Given the description of an element on the screen output the (x, y) to click on. 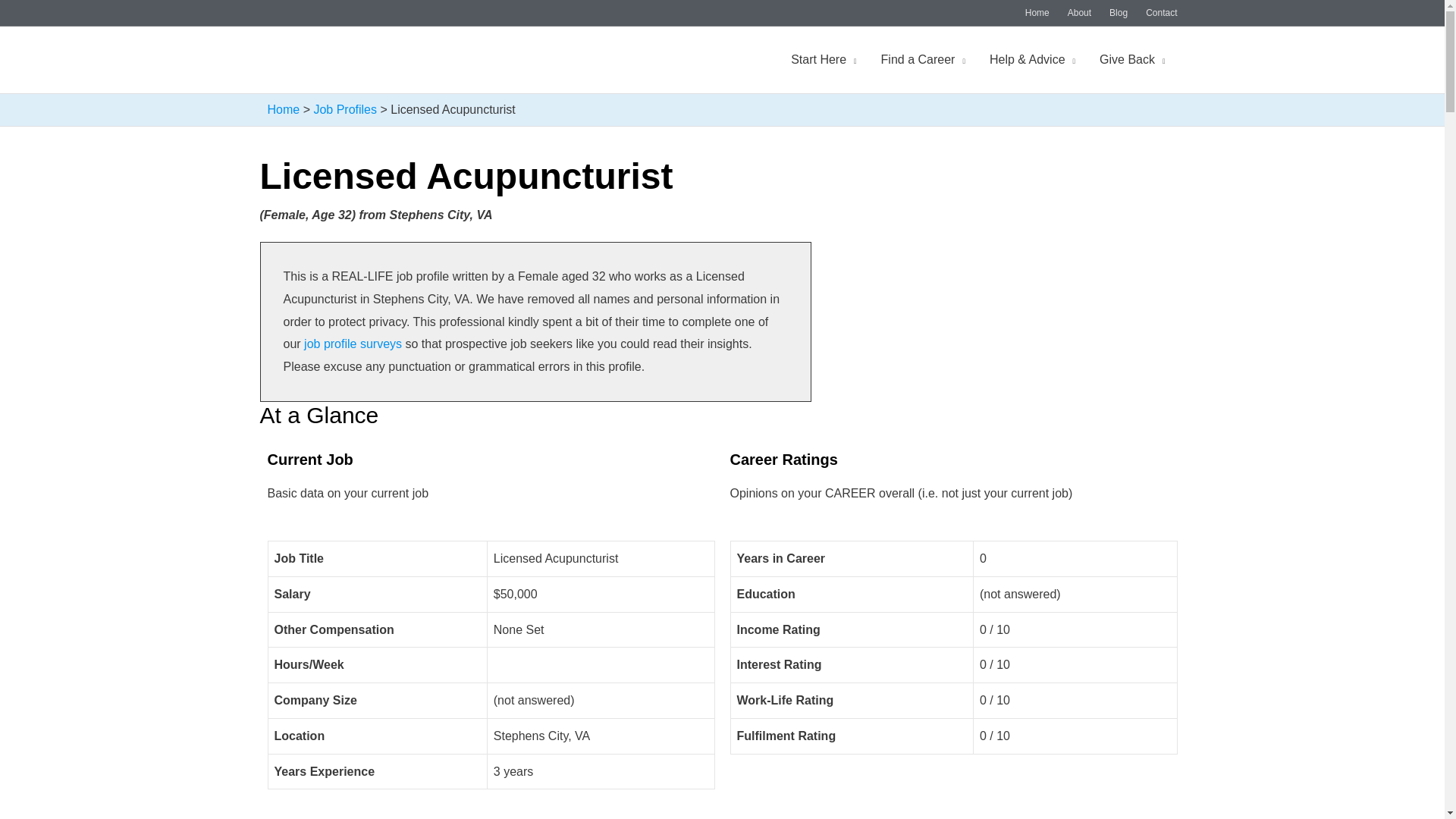
Blog (1118, 12)
Contact (1156, 12)
About (1079, 12)
Go to The Career Project. (282, 109)
Home (1037, 12)
Find a Career (922, 60)
Start Here (822, 60)
Go to Job Profiles. (345, 109)
